Given the description of an element on the screen output the (x, y) to click on. 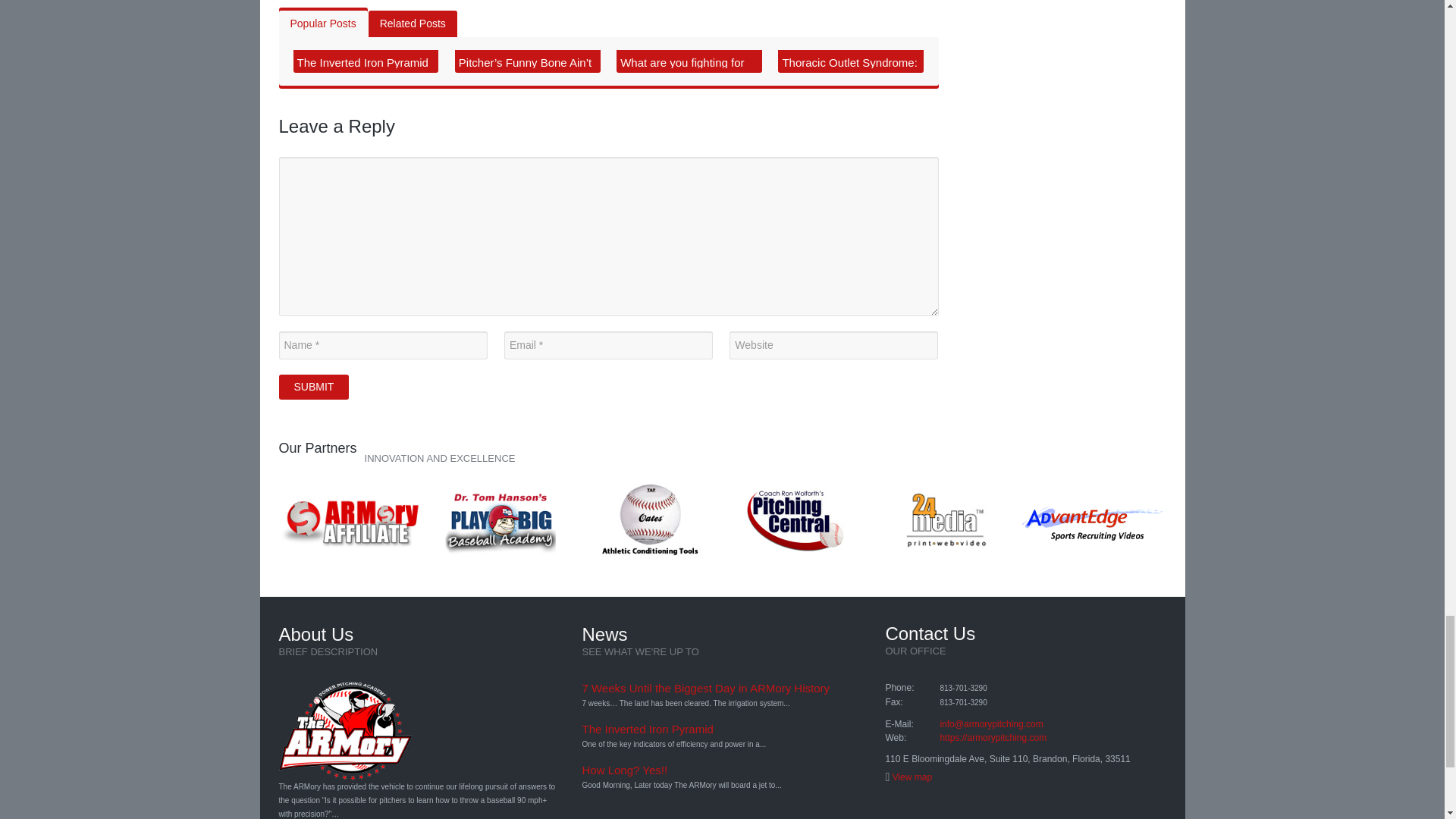
What are you fighting for (682, 62)
7 Weeks Until the Biggest Day in ARMory History (704, 687)
The Inverted Iron Pyramid (646, 728)
The Inverted Iron Pyramid (362, 62)
Thoracic Outlet Syndrome: A Case Study (849, 70)
How Long? Yes!! (623, 769)
SUBMIT (314, 386)
